Given the description of an element on the screen output the (x, y) to click on. 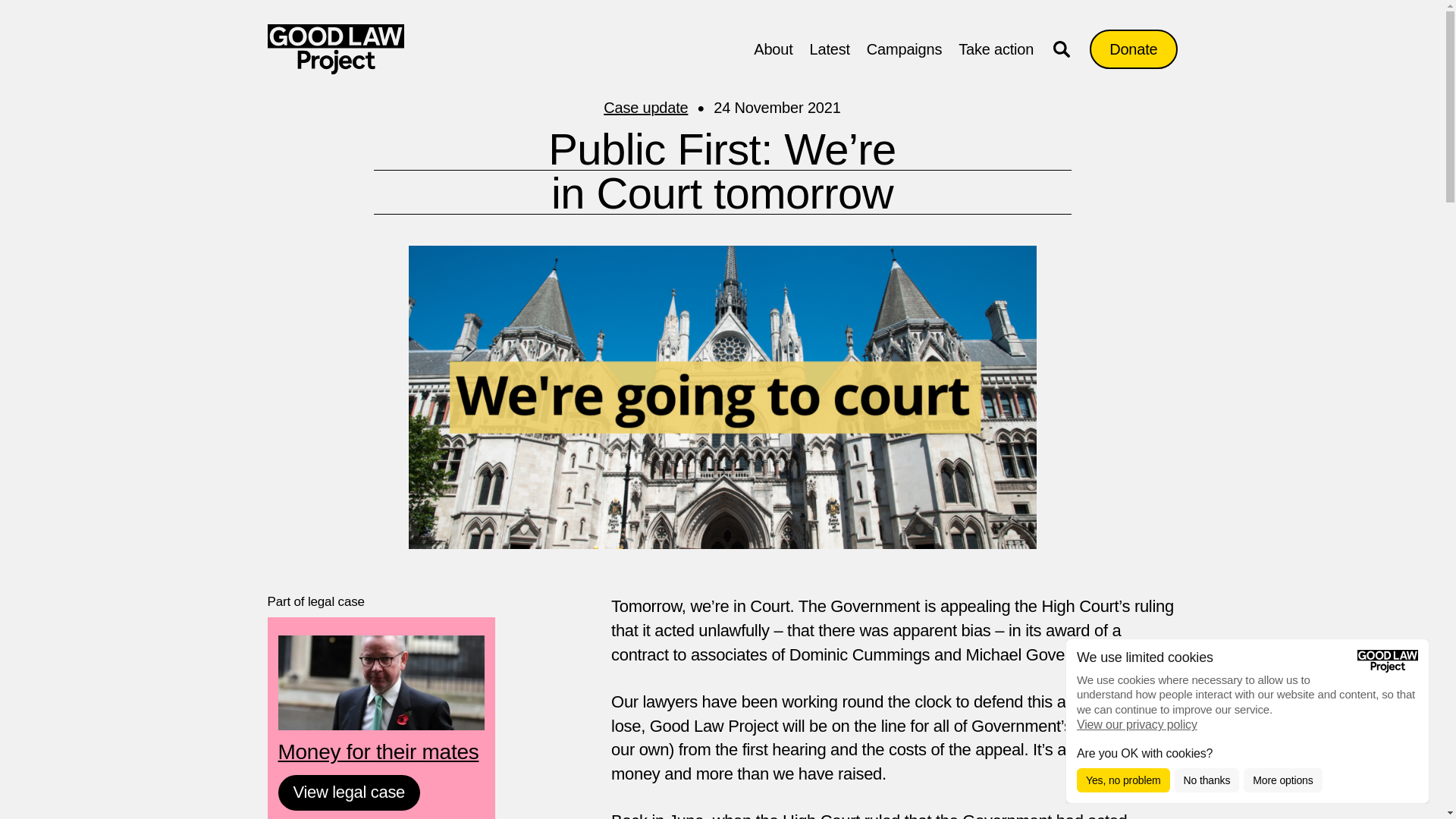
Donate (1132, 48)
About (773, 48)
Case update (657, 107)
View our privacy policy (1136, 724)
No thanks (1207, 780)
Latest (829, 48)
Take action (995, 48)
Campaigns (904, 48)
More options (1282, 780)
Yes, no problem (1123, 780)
